Given the description of an element on the screen output the (x, y) to click on. 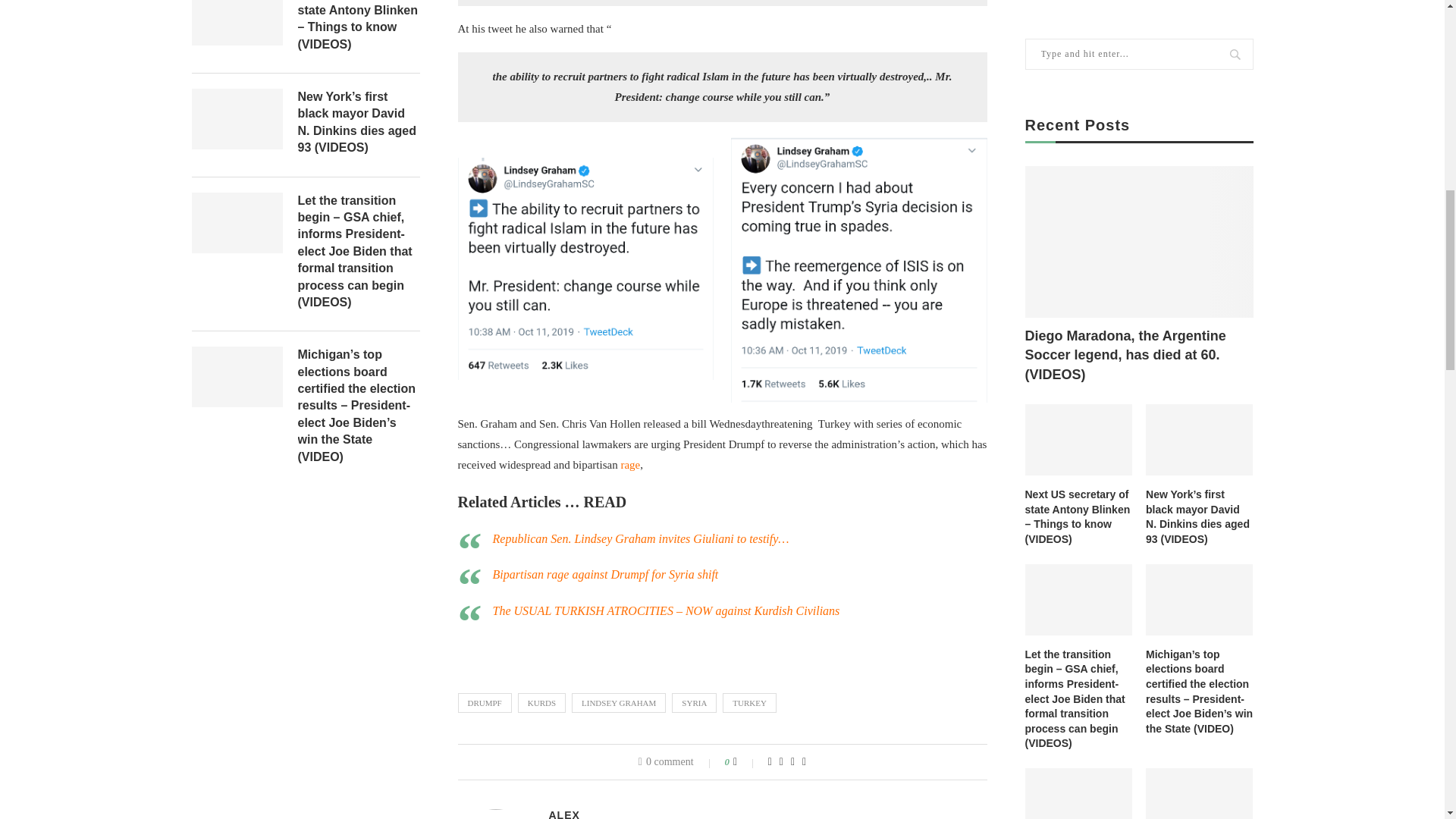
Posts by alex (563, 814)
Like (745, 761)
